Given the description of an element on the screen output the (x, y) to click on. 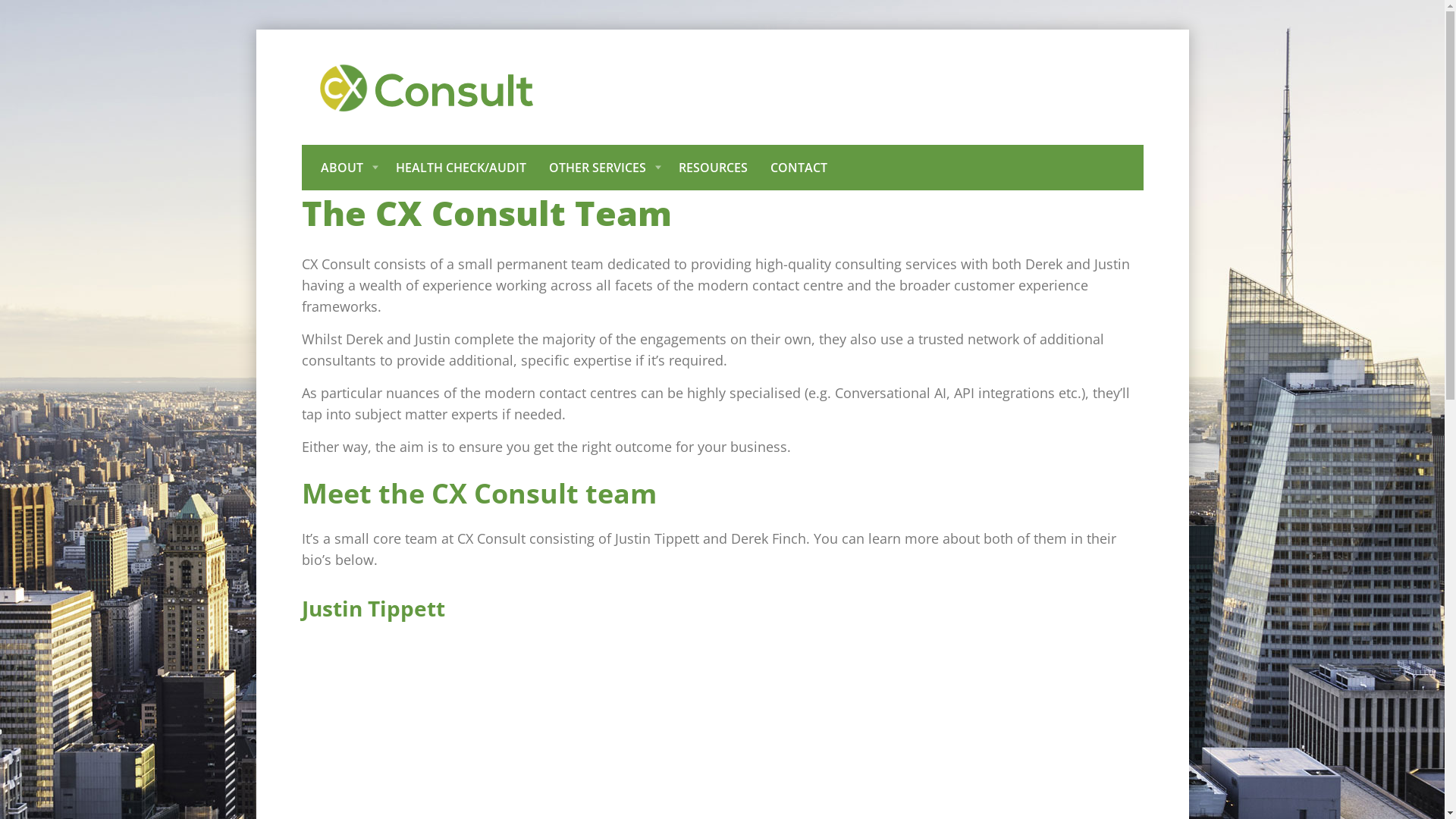
ABOUT Element type: text (351, 167)
OTHER SERVICES Element type: text (601, 167)
CONTACT Element type: text (797, 167)
RESOURCES Element type: text (713, 167)
HEALTH CHECK/AUDIT Element type: text (459, 167)
